Given the description of an element on the screen output the (x, y) to click on. 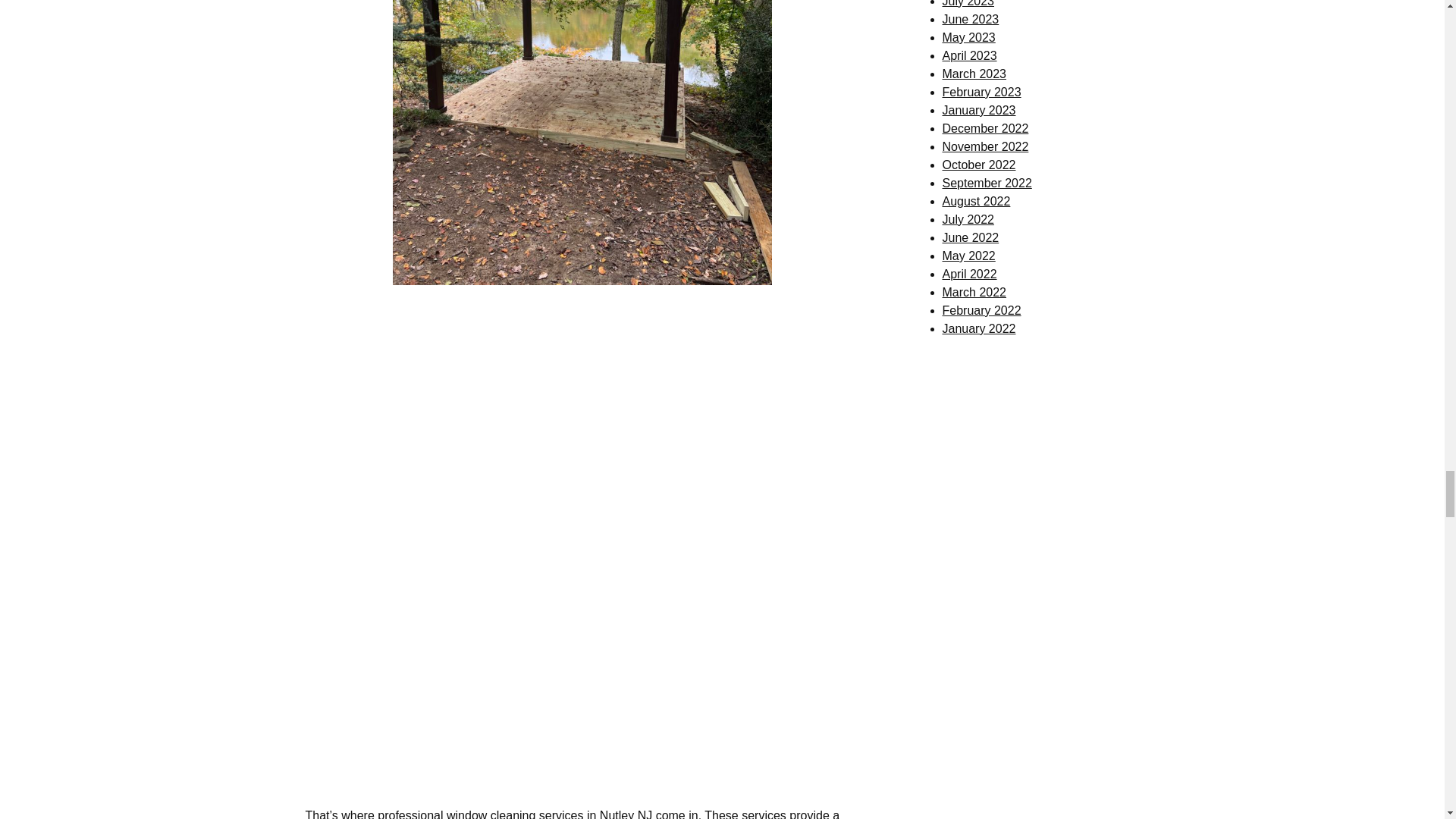
YouTube video player (581, 416)
YouTube video player (581, 661)
